Given the description of an element on the screen output the (x, y) to click on. 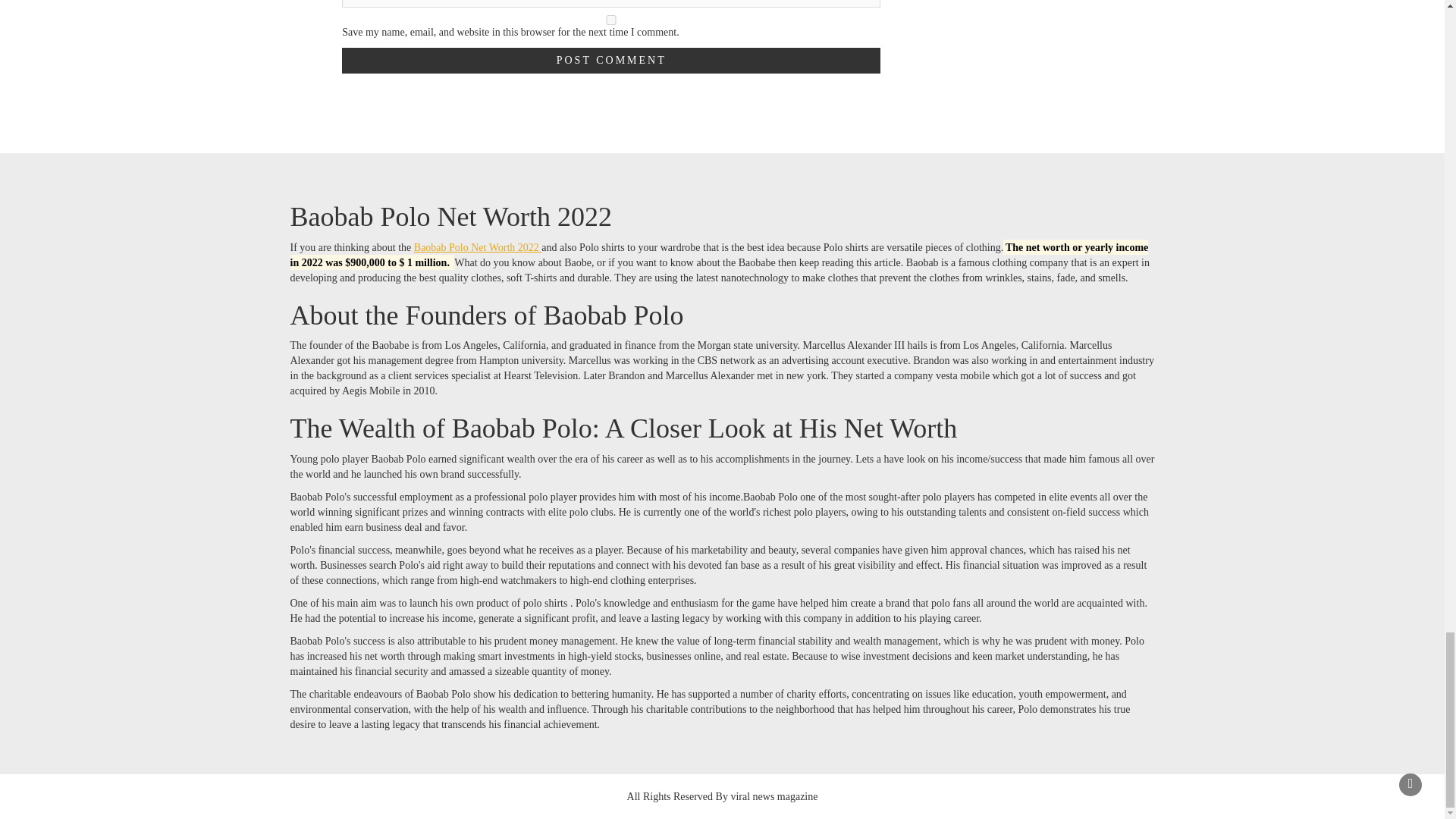
Post Comment (611, 60)
yes (611, 20)
Post Comment (611, 60)
